Given the description of an element on the screen output the (x, y) to click on. 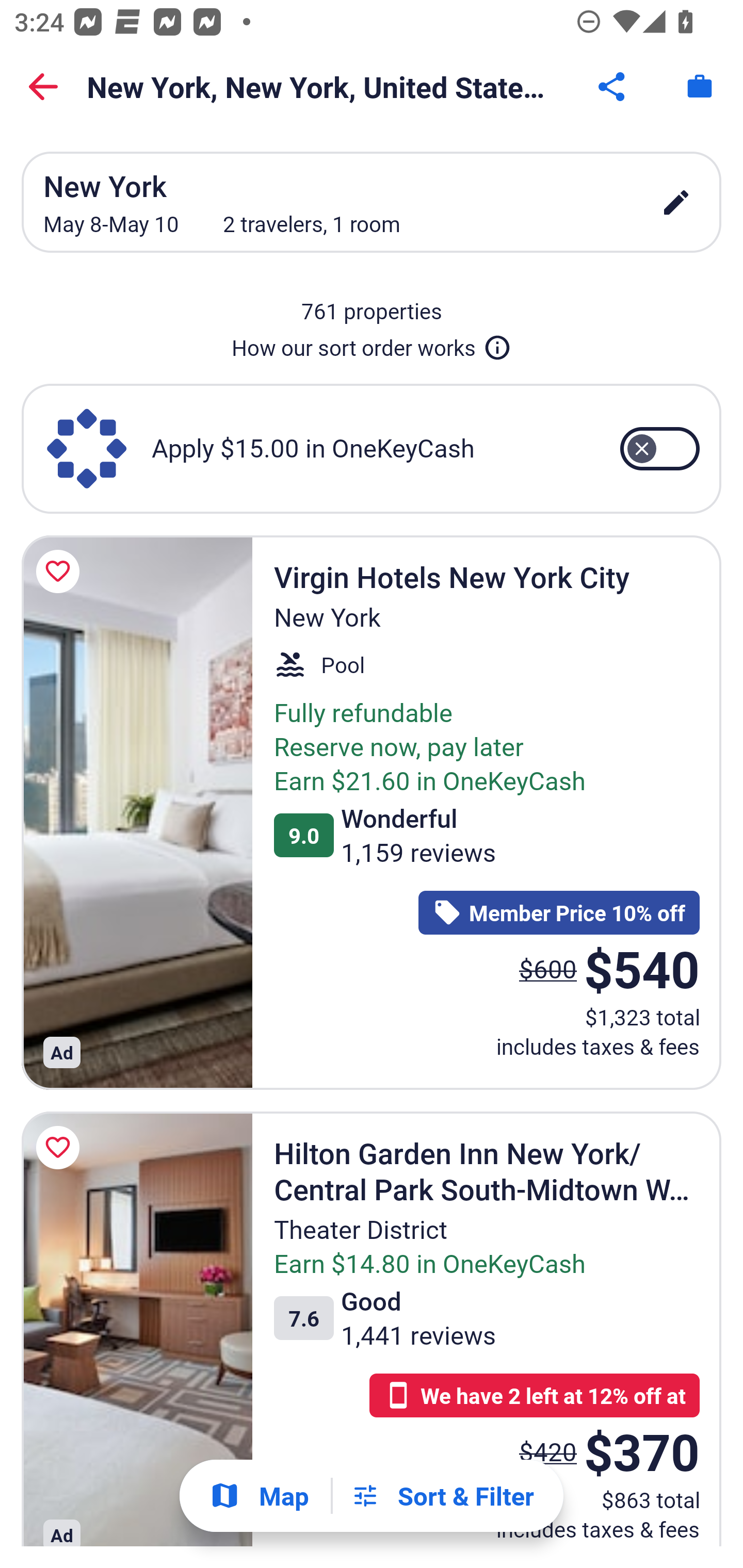
Back (43, 86)
Share Button (612, 86)
Trips. Button (699, 86)
New York May 8-May 10 2 travelers, 1 room edit (371, 202)
How our sort order works (371, 344)
Save Virgin Hotels New York City to a trip (61, 571)
Virgin Hotels New York City (136, 811)
$600 The price was $600 (547, 968)
$420 The price was $420 (547, 1451)
Filters Sort & Filter Filters Button (442, 1495)
Show map Map Show map Button (258, 1495)
